Given the description of an element on the screen output the (x, y) to click on. 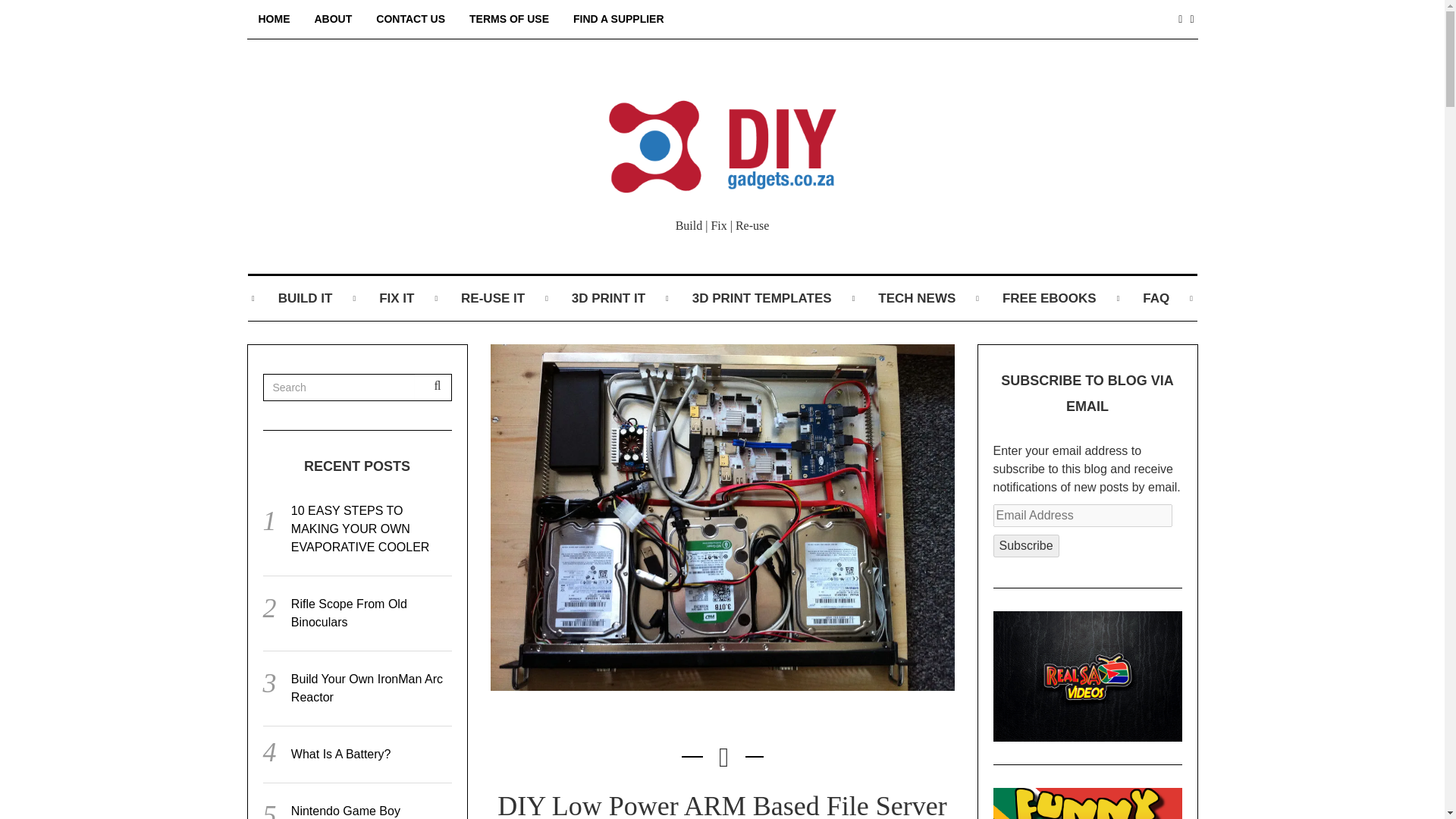
FIX IT (396, 298)
RE-USE IT (492, 298)
Subscribe (1025, 545)
FREE EBOOKS (1049, 298)
3D PRINT TEMPLATES (761, 298)
TECH NEWS (917, 298)
FIND A SUPPLIER (618, 19)
TERMS OF USE (509, 19)
3D PRINT IT (608, 298)
HOME (274, 19)
CONTACT US (411, 19)
ABOUT (333, 19)
BUILD IT (305, 298)
